Given the description of an element on the screen output the (x, y) to click on. 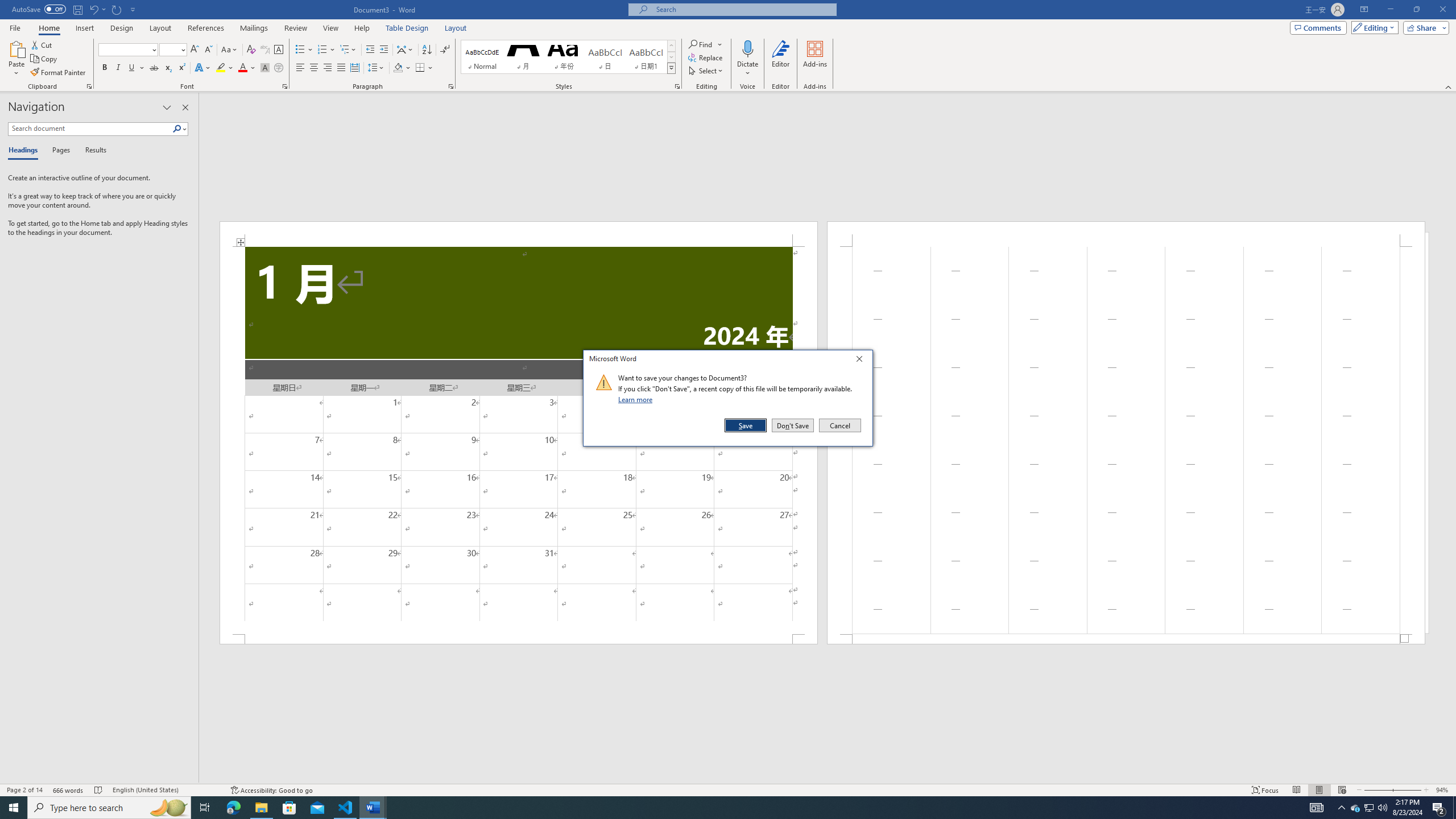
Save (746, 425)
Mailings (253, 28)
Word - 2 running windows (373, 807)
Class: MsoCommandBar (728, 789)
Type here to search (108, 807)
Insert (83, 28)
Learn more (636, 399)
Strikethrough (154, 67)
Line and Paragraph Spacing (376, 67)
Row Down (670, 56)
Align Right (327, 67)
User Promoted Notification Area (1368, 807)
Layout (455, 28)
Language English (United States) (165, 790)
